Given the description of an element on the screen output the (x, y) to click on. 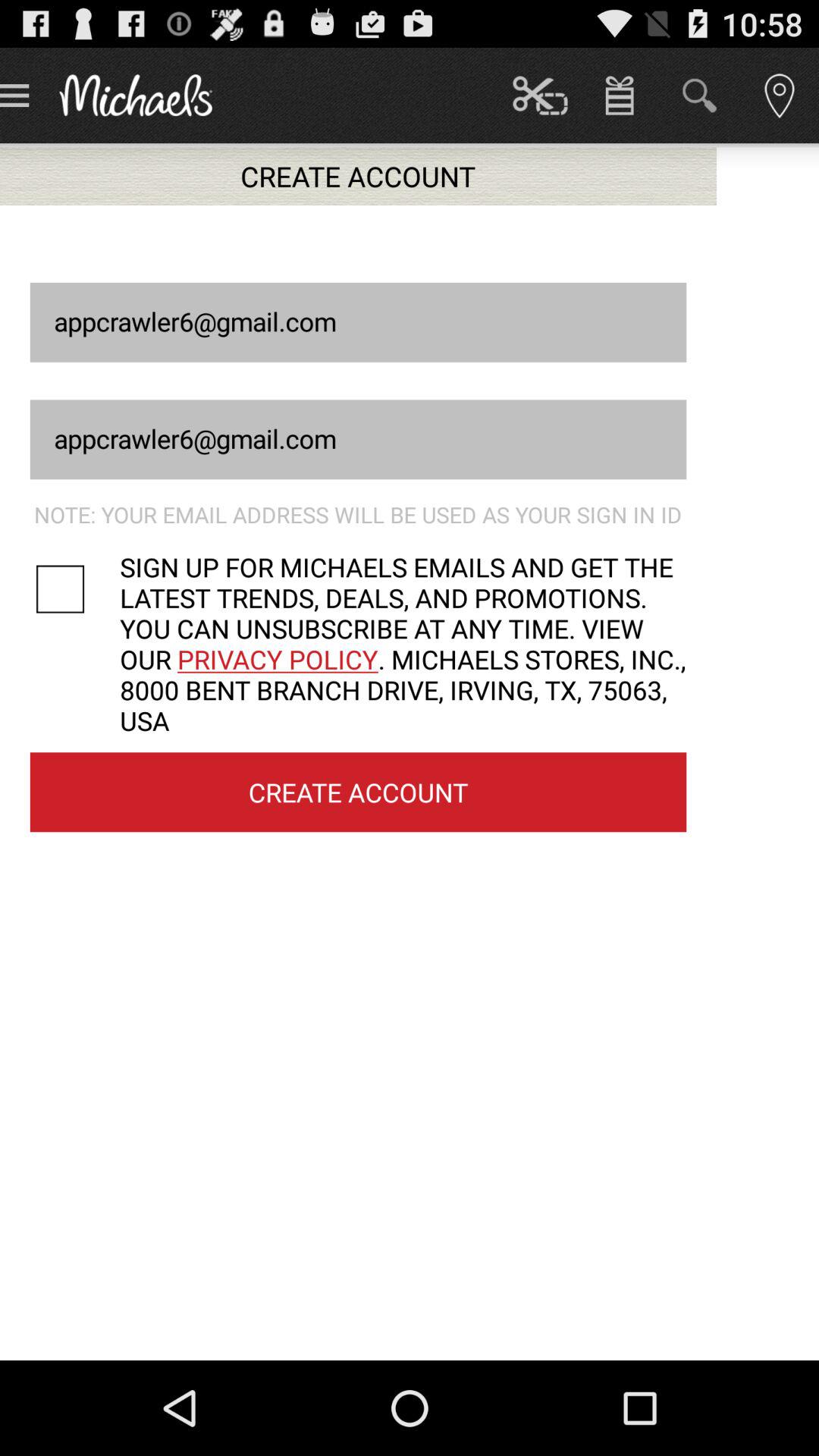
check box for emails (75, 589)
